Given the description of an element on the screen output the (x, y) to click on. 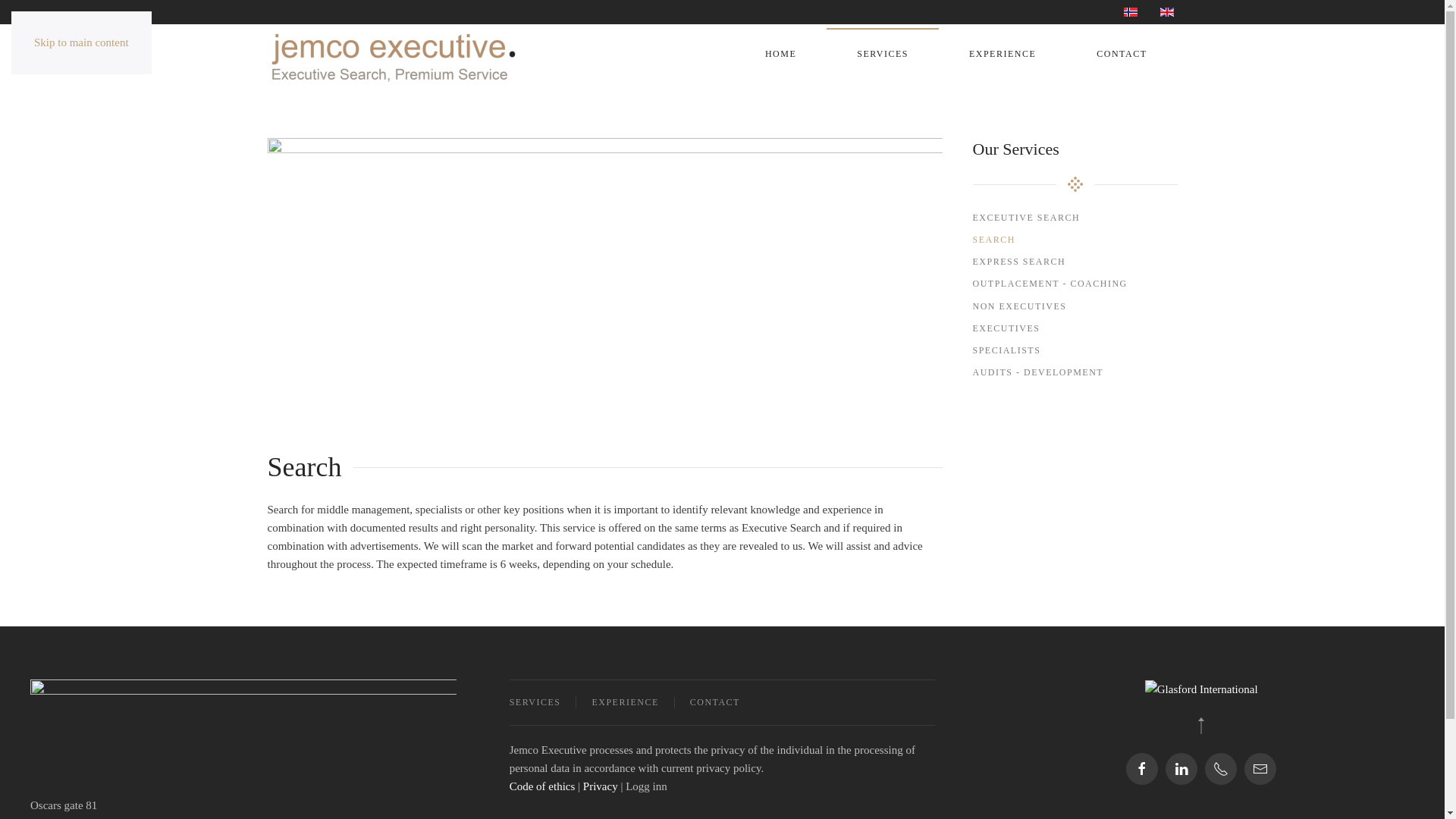
Skip to main content (81, 42)
HOME (781, 54)
SERVICES (883, 54)
